Given the description of an element on the screen output the (x, y) to click on. 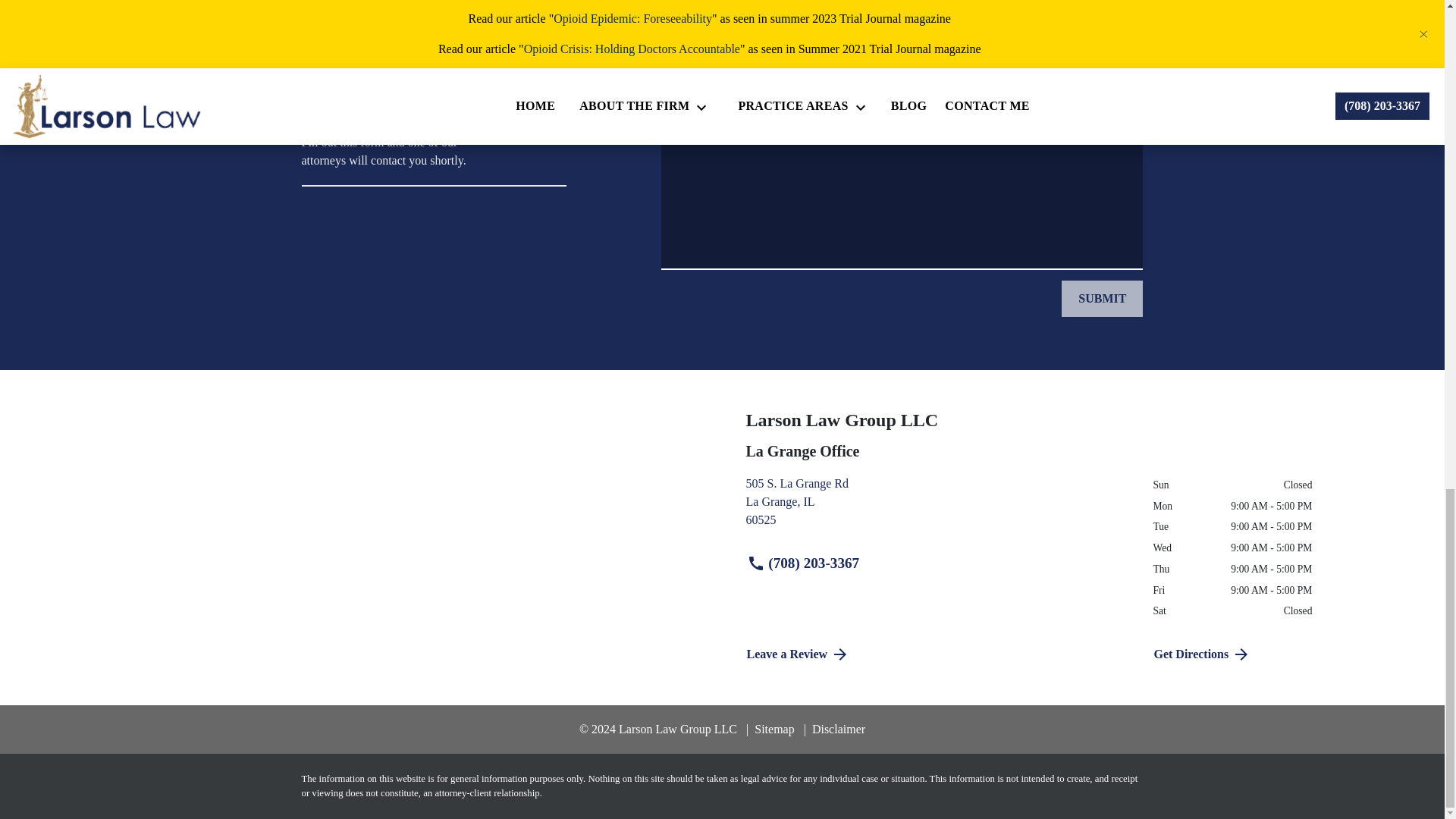
SUBMIT (938, 508)
Leave a Review (1101, 298)
Get Directions (938, 654)
